Given the description of an element on the screen output the (x, y) to click on. 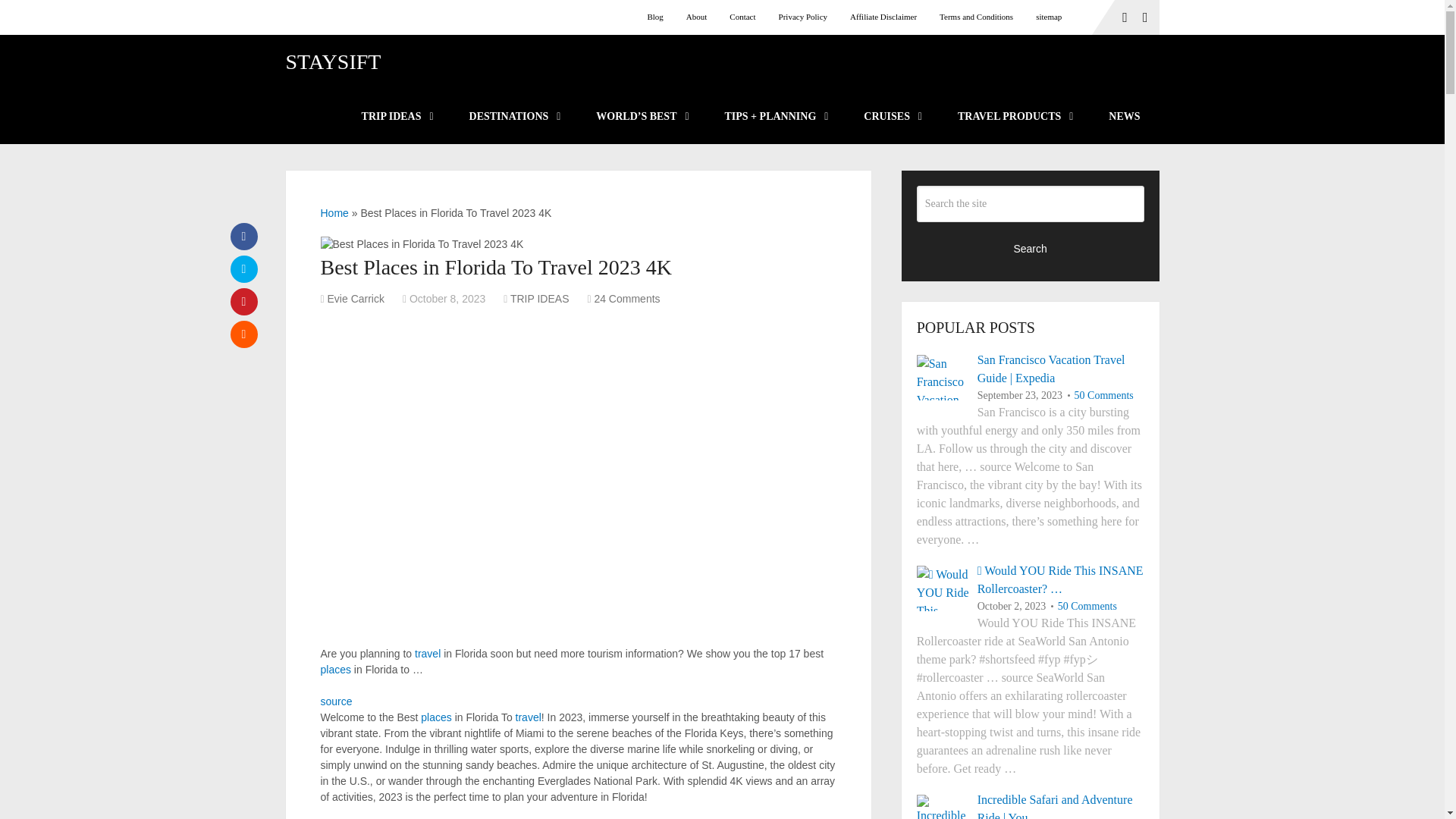
TRIP IDEAS (395, 116)
Privacy Policy (802, 16)
Blog (660, 16)
TRAVEL PRODUCTS (1014, 116)
DESTINATIONS (513, 116)
CRUISES (891, 116)
Posts by Evie Carrick (355, 298)
sitemap (1049, 16)
About (697, 16)
Terms and Conditions (976, 16)
Contact (742, 16)
STAYSIFT (332, 61)
Affiliate Disclaimer (883, 16)
View all posts in TRIP IDEAS (540, 298)
